Given the description of an element on the screen output the (x, y) to click on. 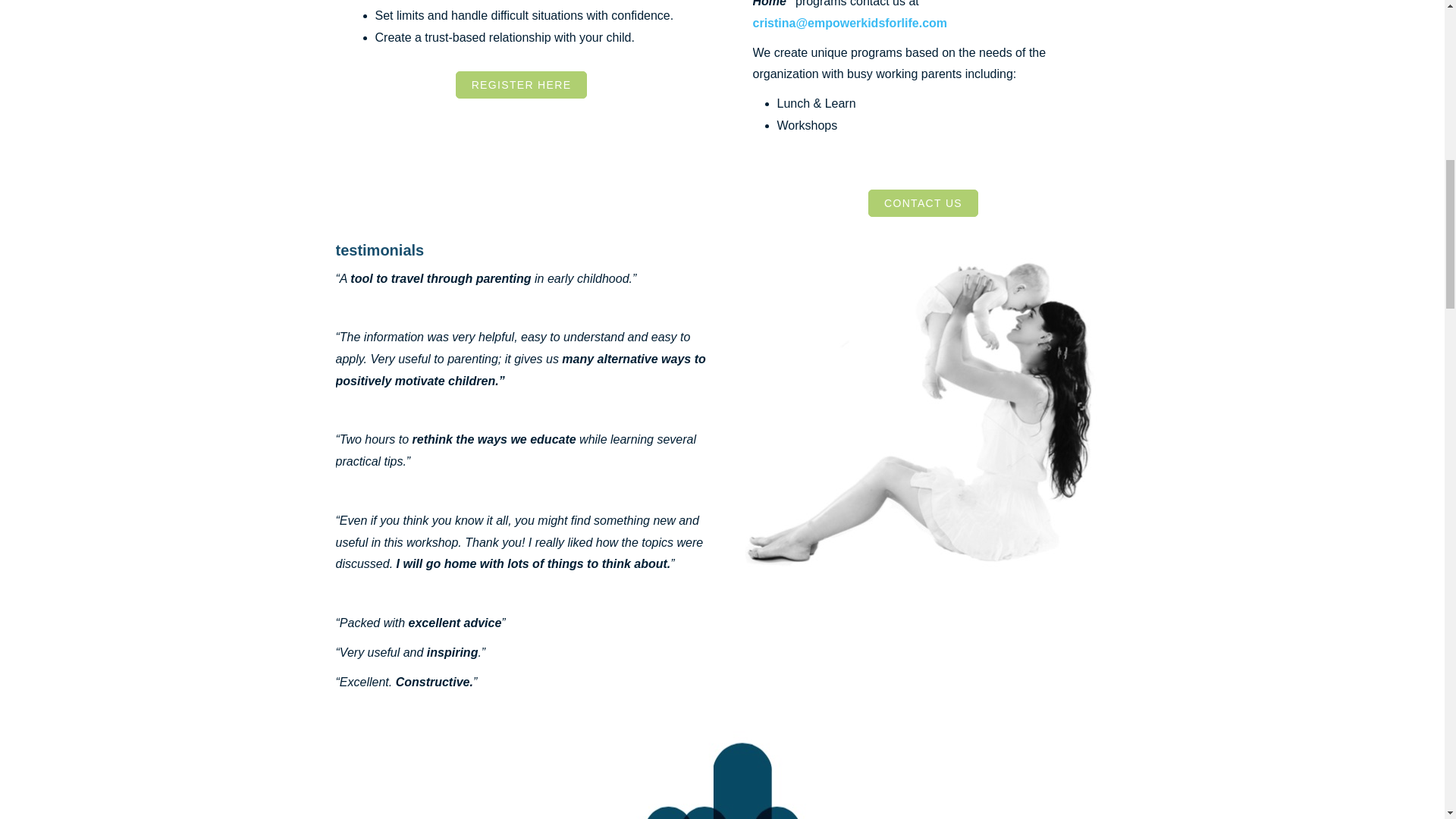
REGISTER HERE (521, 84)
teachers icon (721, 775)
mom and baby (923, 412)
CONTACT US (922, 203)
